Given the description of an element on the screen output the (x, y) to click on. 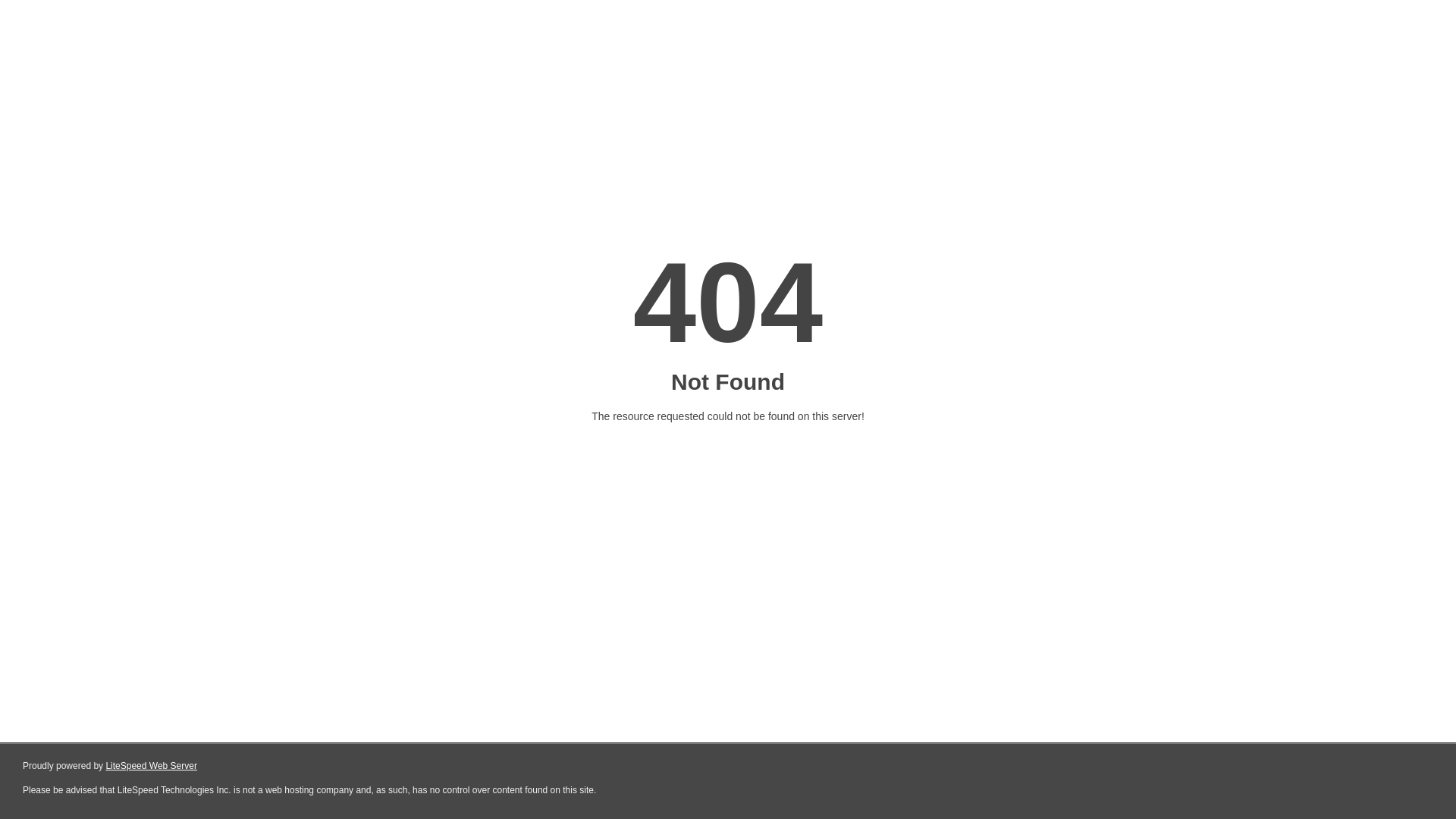
LiteSpeed Web Server Element type: text (151, 765)
